Given the description of an element on the screen output the (x, y) to click on. 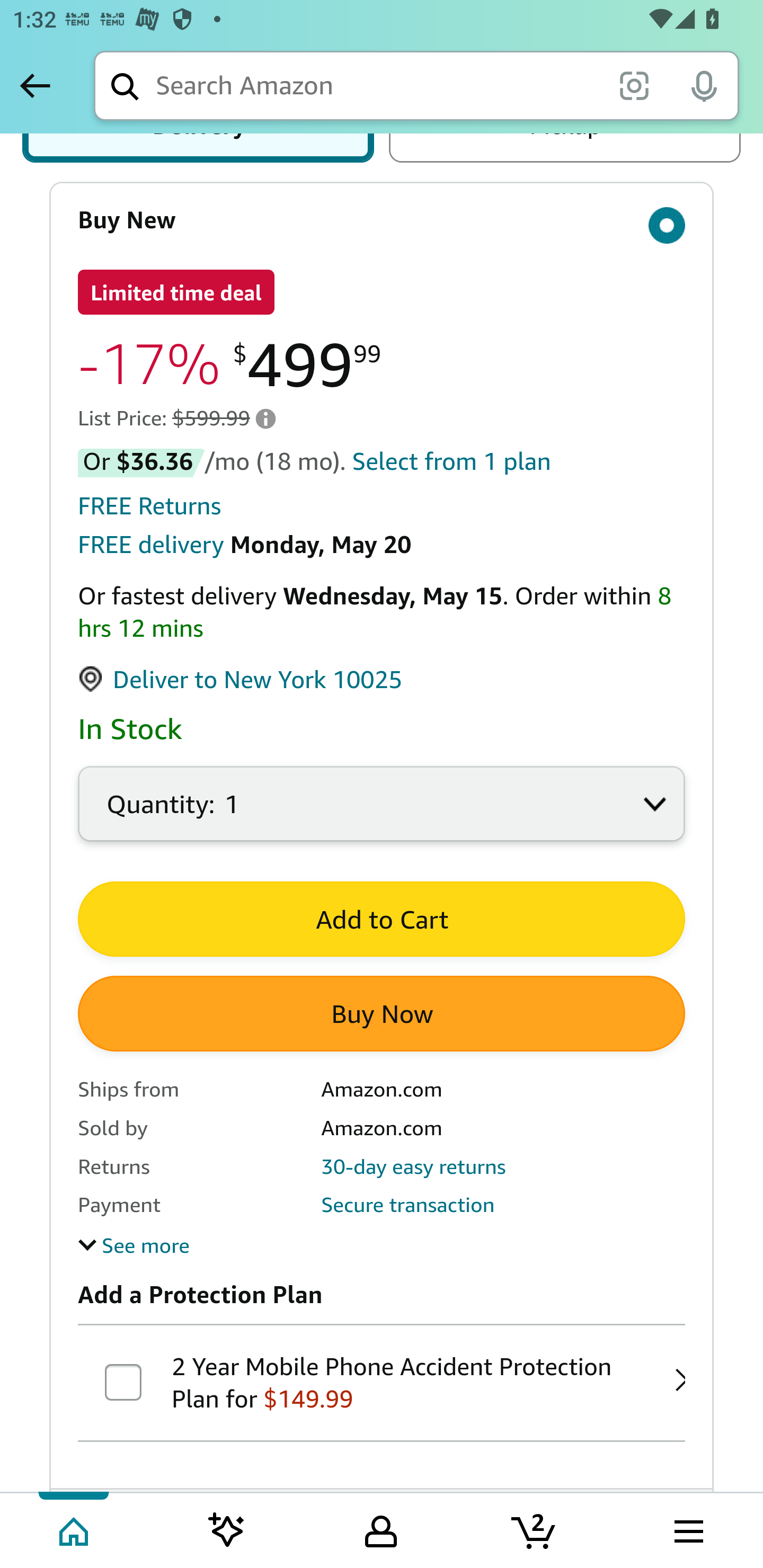
Back (35, 85)
scan it (633, 85)
Buy New (381, 220)
Learn more about Amazon pricing and savings (265, 418)
Select from 1 plan (450, 461)
FREE Returns (149, 506)
FREE delivery (150, 546)
Deliver to New York 10025‌ (240, 680)
1 (381, 814)
Add to Cart (381, 918)
Buy Now (381, 1014)
See more (133, 1244)
Home Tab 1 of 5 (75, 1529)
Inspire feed Tab 2 of 5 (227, 1529)
Your Amazon.com Tab 3 of 5 (380, 1529)
Cart 2 items Tab 4 of 5 2 (534, 1529)
Browse menu Tab 5 of 5 (687, 1529)
